Given the description of an element on the screen output the (x, y) to click on. 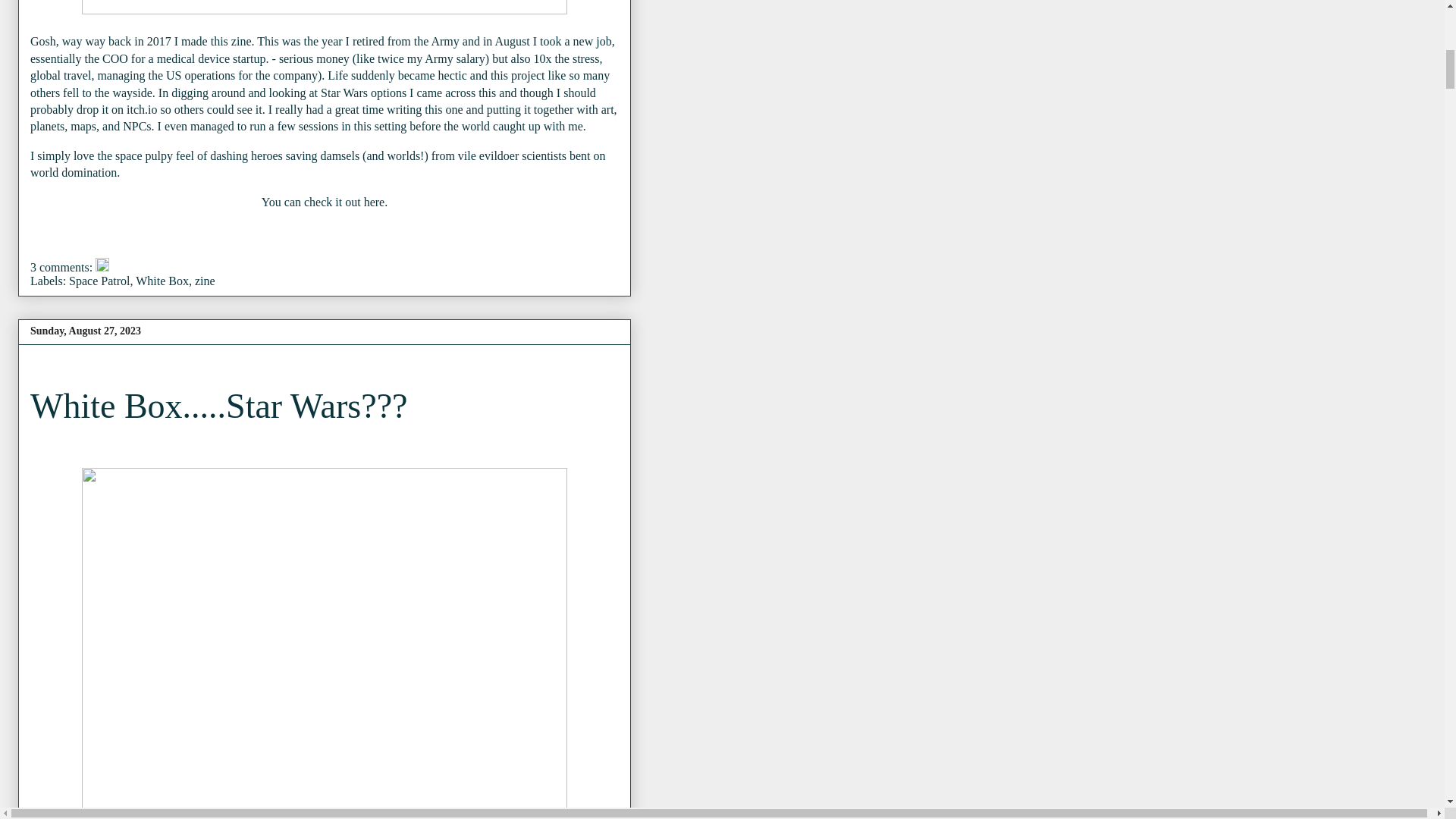
White Box.....Star Wars??? (218, 405)
White Box (162, 280)
zine (205, 280)
3 comments: (63, 267)
Edit Post (102, 267)
Space Patrol (98, 280)
You can check it out here. (324, 201)
